Given the description of an element on the screen output the (x, y) to click on. 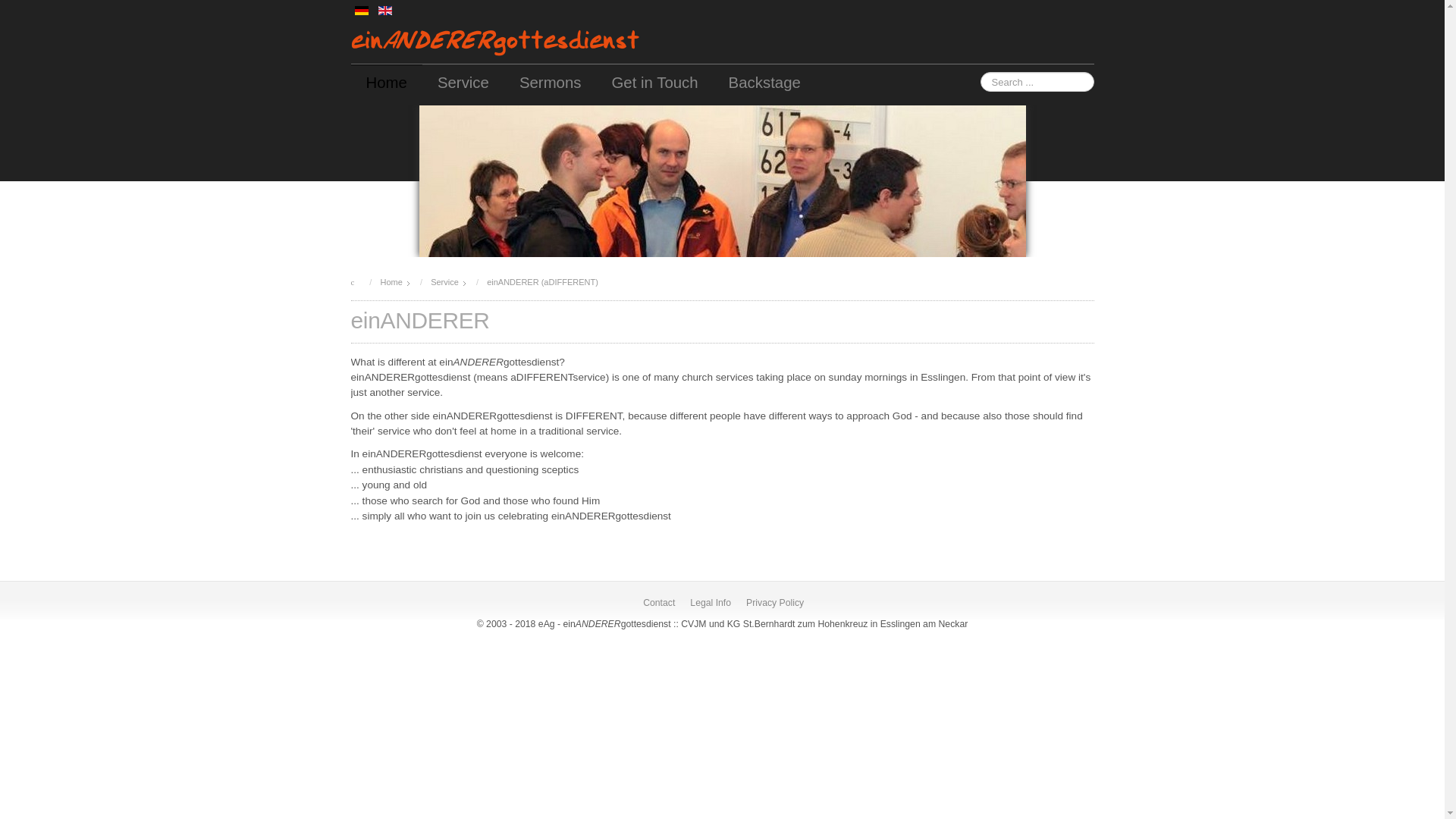
Privacy Policy (775, 602)
Sermons (549, 82)
Home (391, 281)
Backstage (764, 82)
Service (462, 82)
Get in Touch (654, 82)
Home (386, 82)
Contact (658, 602)
Legal Info (710, 602)
Service (444, 281)
